Given the description of an element on the screen output the (x, y) to click on. 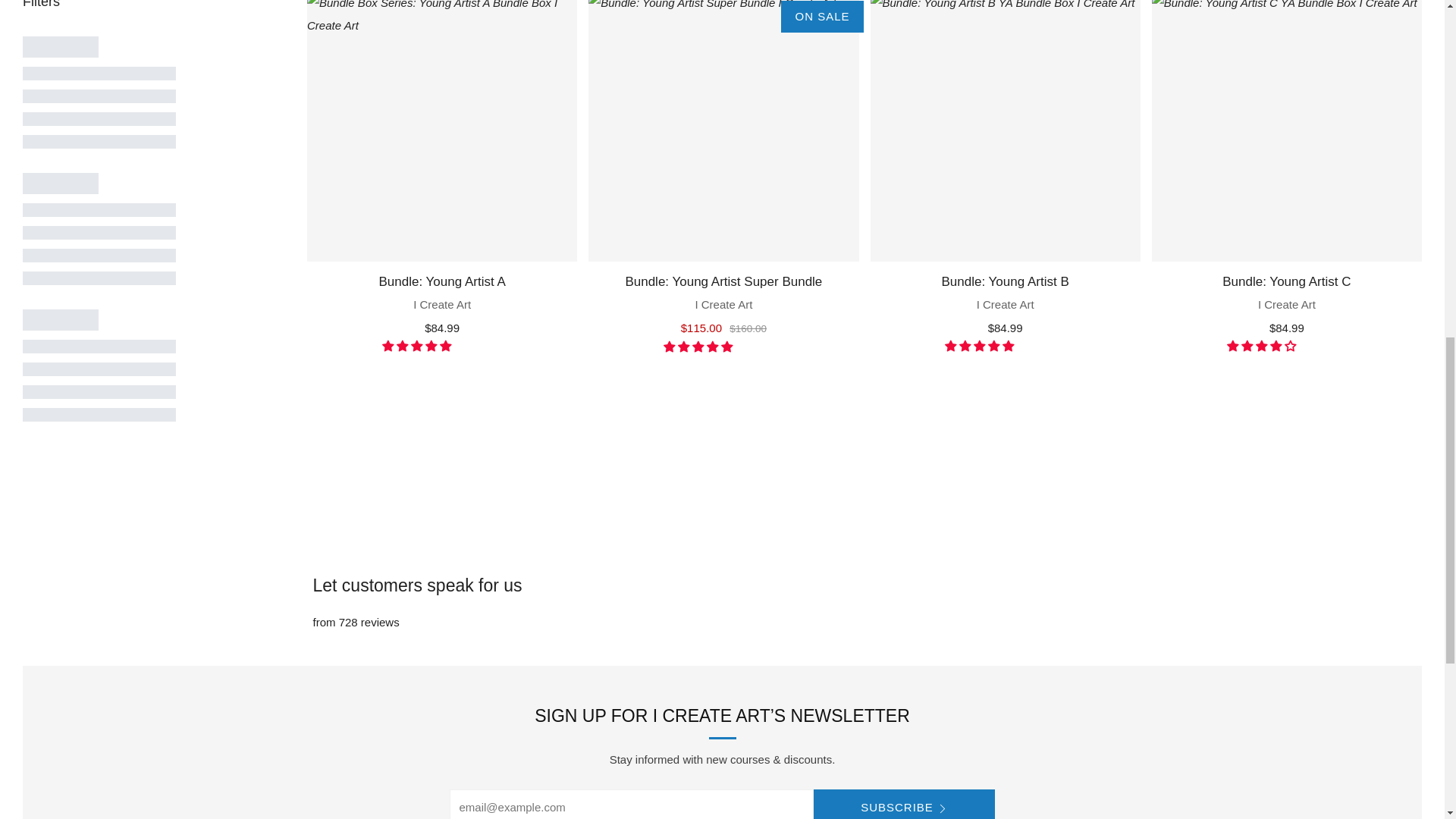
Bundle: Young Artist C (1286, 302)
Bundle: Young Artist Super Bundle (723, 302)
Bundle: Young Artist A (441, 302)
Bundle: Young Artist A (441, 130)
Bundle: Young Artist C (1286, 130)
Bundle: Young Artist B (1005, 302)
Bundle: Young Artist B (1005, 130)
Bundle: Young Artist Super Bundle (723, 130)
